Given the description of an element on the screen output the (x, y) to click on. 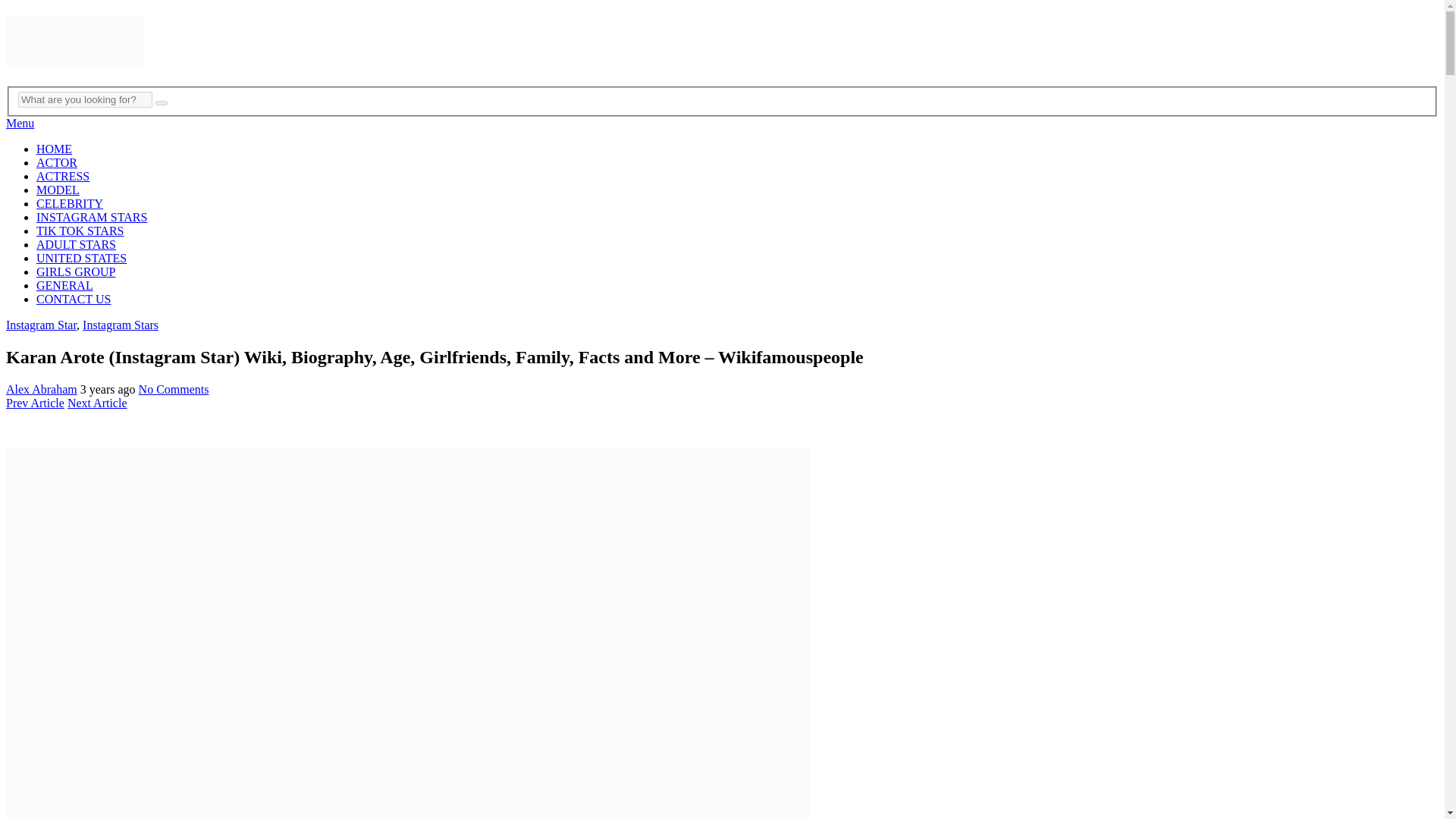
UNITED STATES (81, 257)
Posts by Alex Abraham (41, 389)
Alex Abraham (41, 389)
Menu (19, 123)
Instagram Star (41, 324)
HOME (53, 148)
View all posts in Instagram Star (41, 324)
Instagram Stars (120, 324)
No Comments (173, 389)
MODEL (58, 189)
CELEBRITY (69, 203)
ADULT STARS (76, 244)
Next Article (97, 402)
TIK TOK STARS (79, 230)
GIRLS GROUP (75, 271)
